Given the description of an element on the screen output the (x, y) to click on. 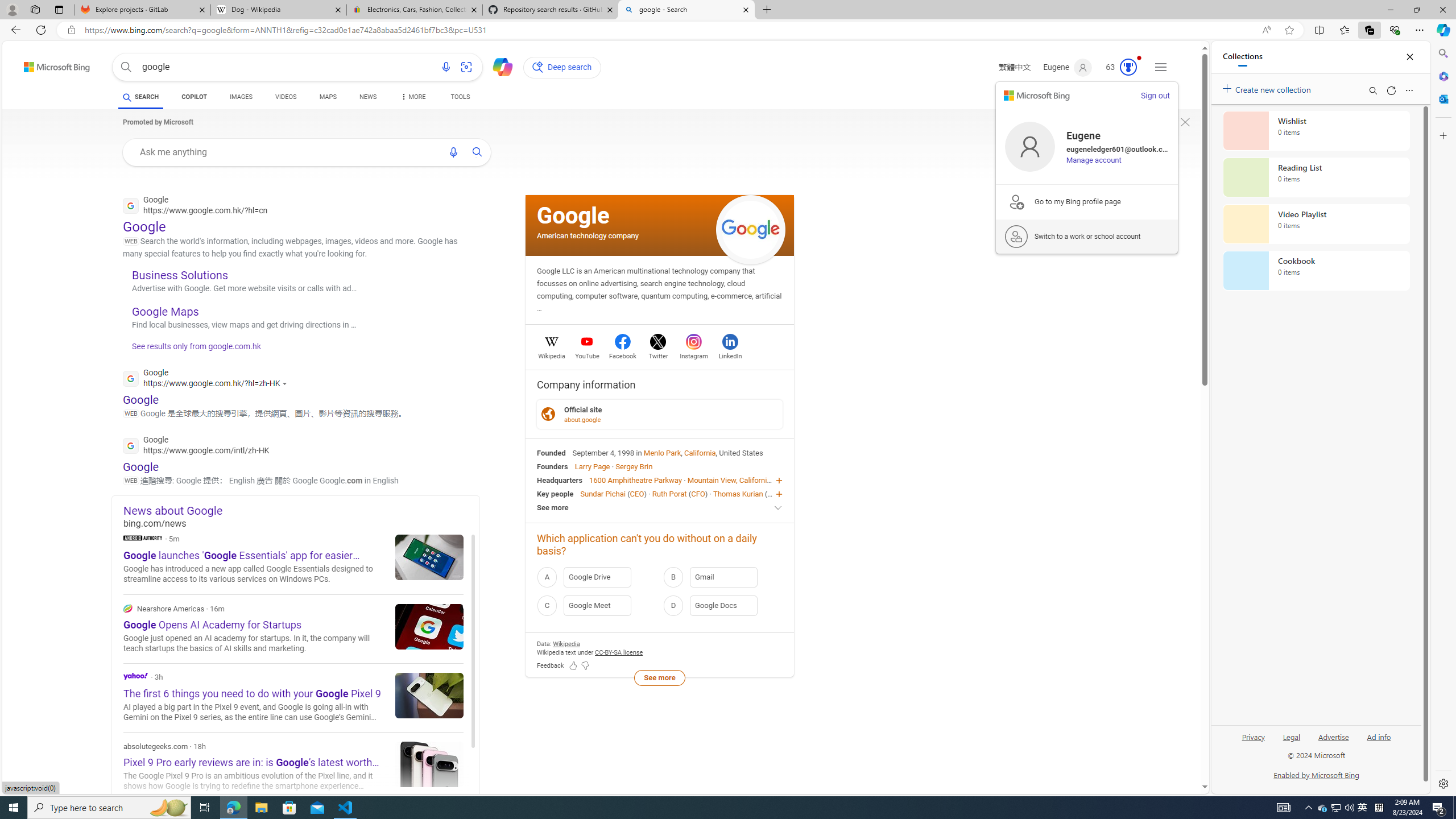
Bing Pages Upsell Logo (1016, 201)
Wishlist collection, 0 items (1316, 130)
The first 6 things you need to do with your Google Pixel 9 (428, 695)
Search using an image (465, 66)
Google (573, 215)
Dog - Wikipedia (277, 9)
Feedback Like (573, 665)
Create new collection (1268, 87)
American technology company (588, 234)
COPILOT (193, 96)
Class: sp-ofsite (547, 414)
More options menu (1409, 90)
absolutegeeks.com (293, 766)
